Given the description of an element on the screen output the (x, y) to click on. 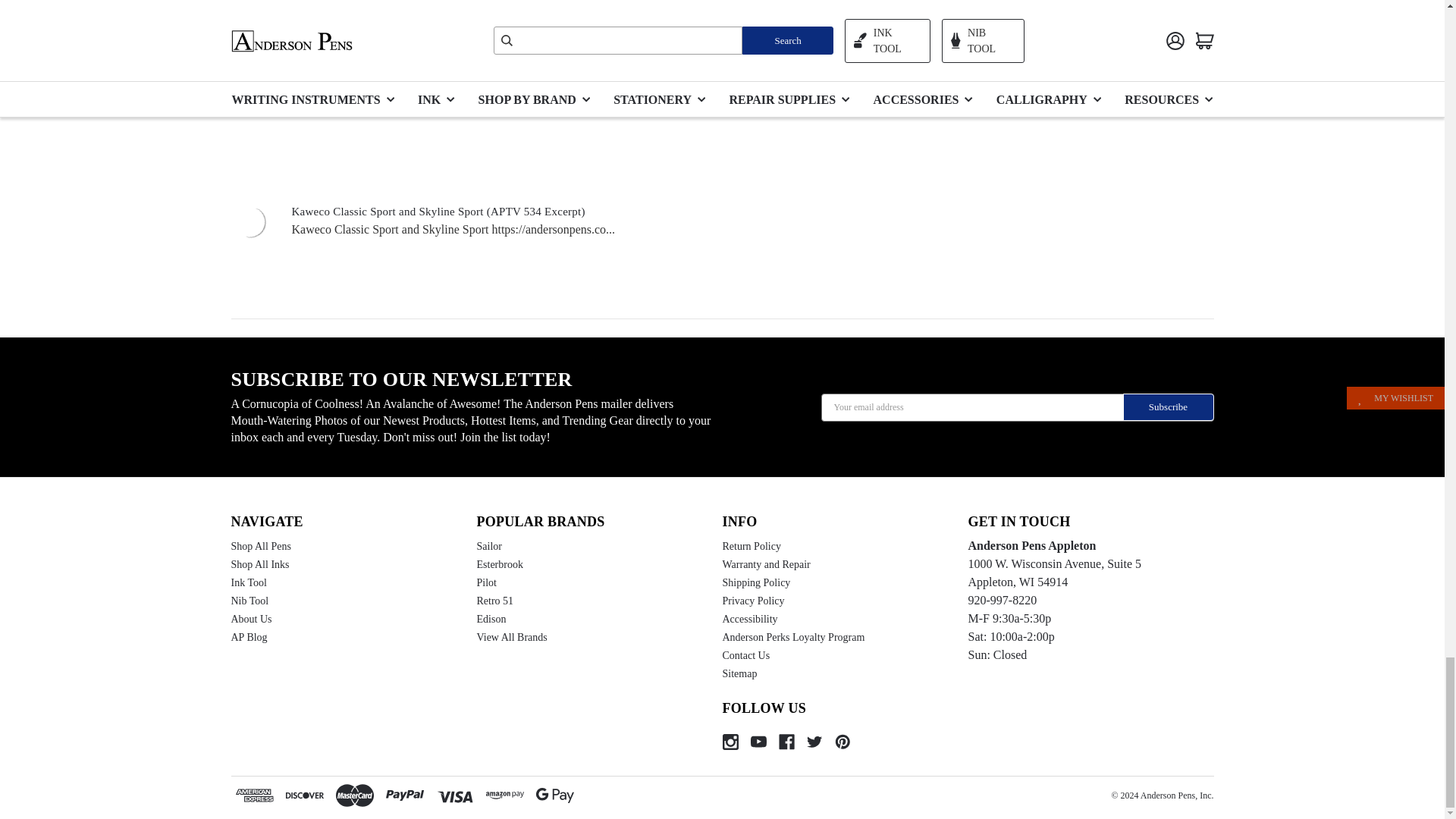
Subscribe (1167, 406)
